Given the description of an element on the screen output the (x, y) to click on. 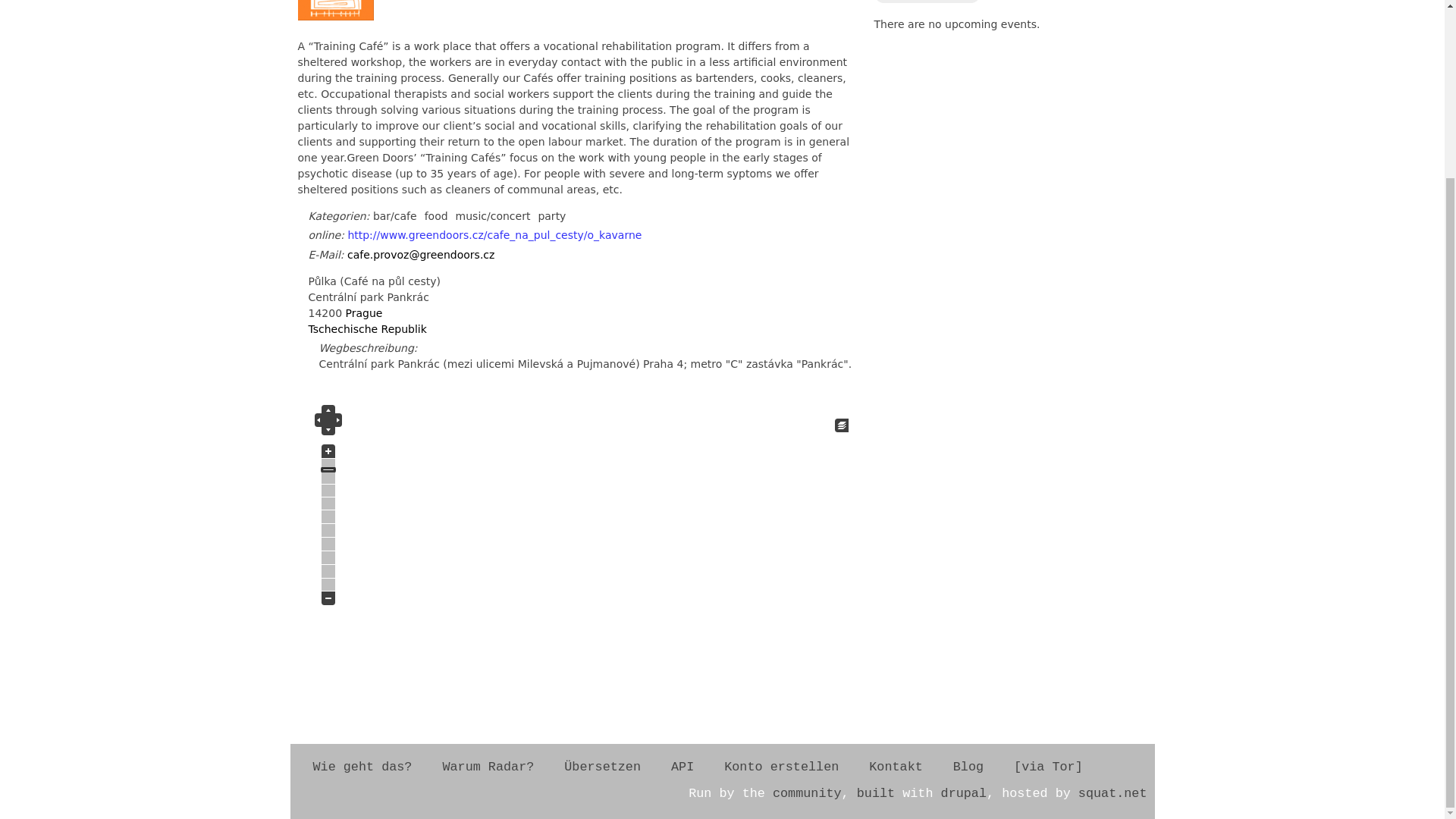
Warum Radar? (487, 766)
Wie geht das? (361, 766)
Konto erstellen (781, 766)
Blog (967, 766)
Send correction (926, 1)
drupal (963, 793)
Tschechische Republik (366, 328)
squat.net (1112, 793)
API (682, 766)
Kontakt (895, 766)
built (876, 793)
community (807, 793)
Prague (364, 313)
